Given the description of an element on the screen output the (x, y) to click on. 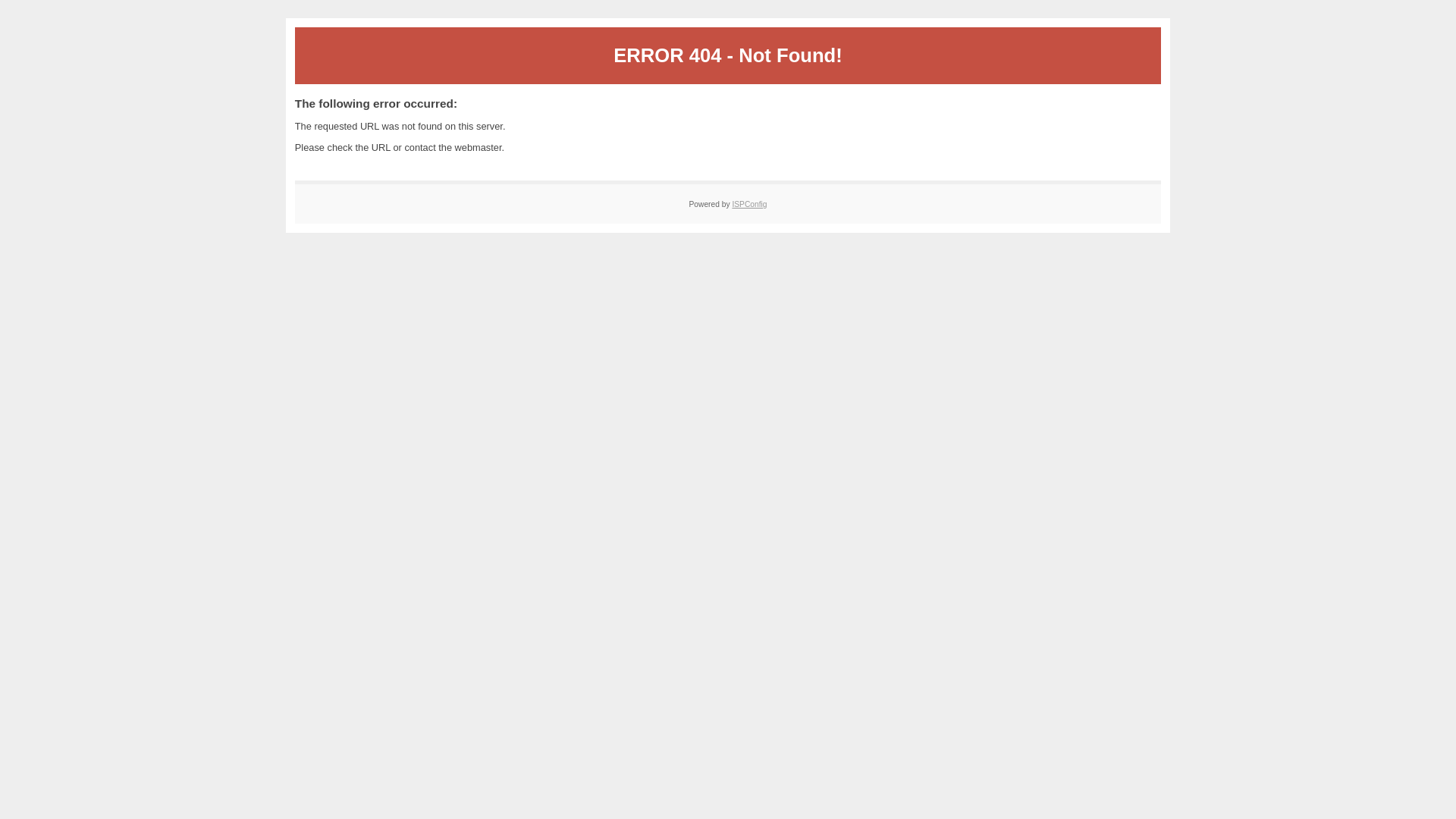
ISPConfig Element type: text (748, 204)
